Given the description of an element on the screen output the (x, y) to click on. 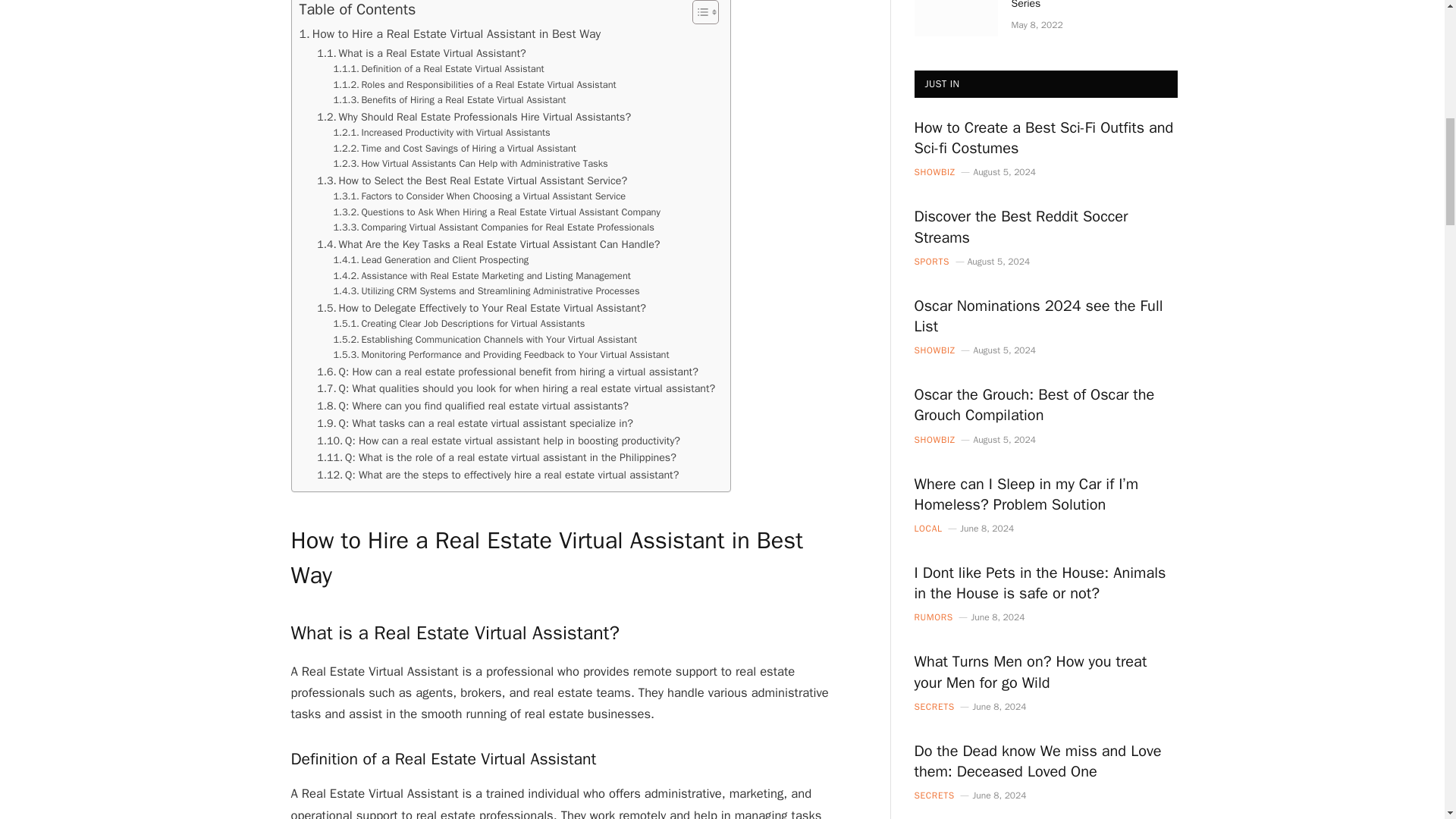
How to Hire a Real Estate Virtual Assistant in Best Way (448, 34)
What is a Real Estate Virtual Assistant? (421, 53)
Increased Productivity with Virtual Assistants (441, 132)
What is a Real Estate Virtual Assistant? (421, 53)
Definition of a Real Estate Virtual Assistant (438, 68)
Benefits of Hiring a Real Estate Virtual Assistant (449, 99)
How to Hire a Real Estate Virtual Assistant in Best Way (448, 34)
